Given the description of an element on the screen output the (x, y) to click on. 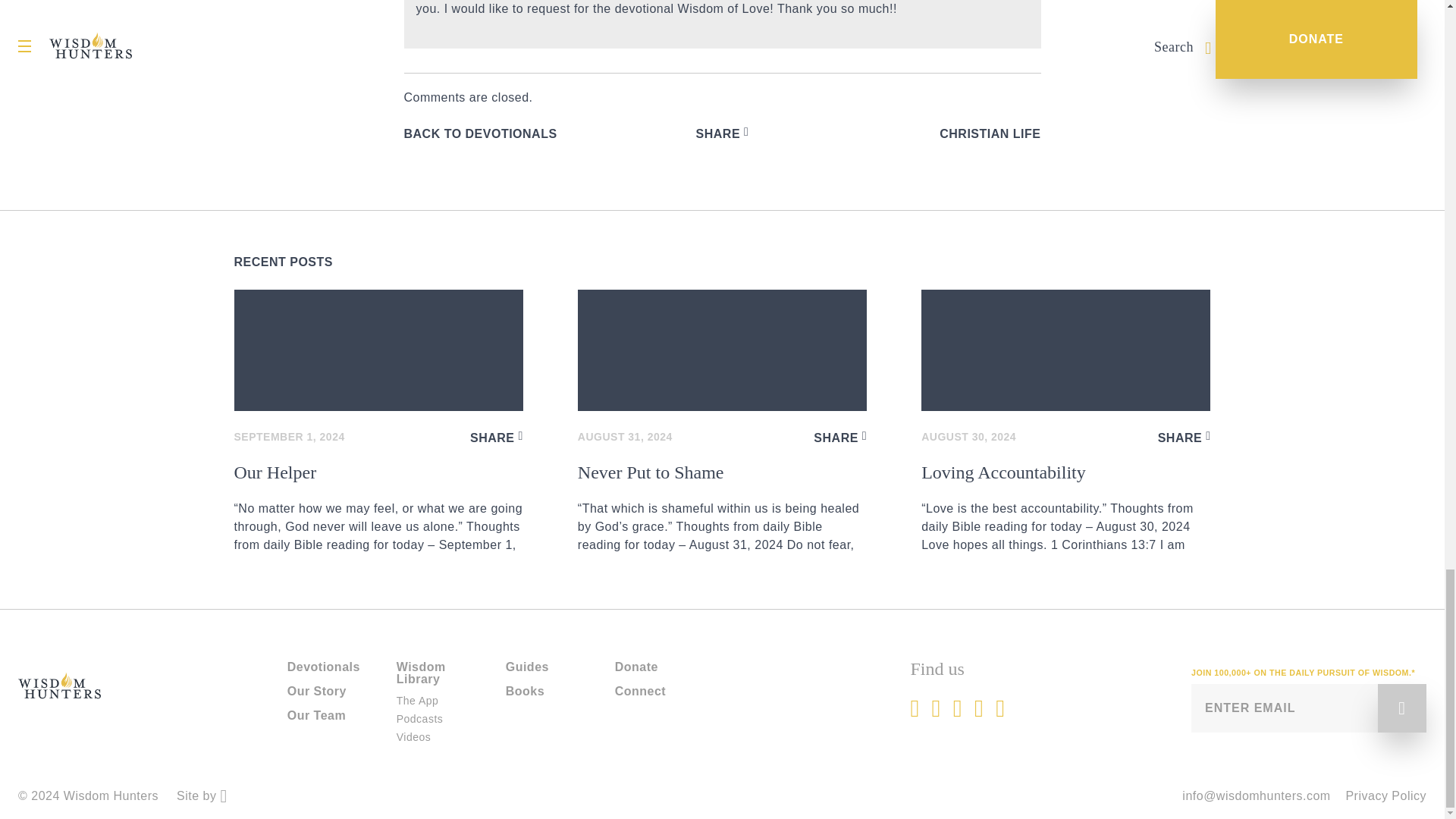
Send (1401, 707)
BACK TO DEVOTIONALS (479, 133)
Permalink to: Our Helper (377, 350)
Permalink to: Loving Accountability (1065, 507)
Permalink to: Loving Accountability (1065, 350)
Permalink to: Never Put to Shame (722, 507)
SHARE (722, 133)
Permalink to: Never Put to Shame (722, 350)
Permalink to: Our Helper (377, 507)
